Given the description of an element on the screen output the (x, y) to click on. 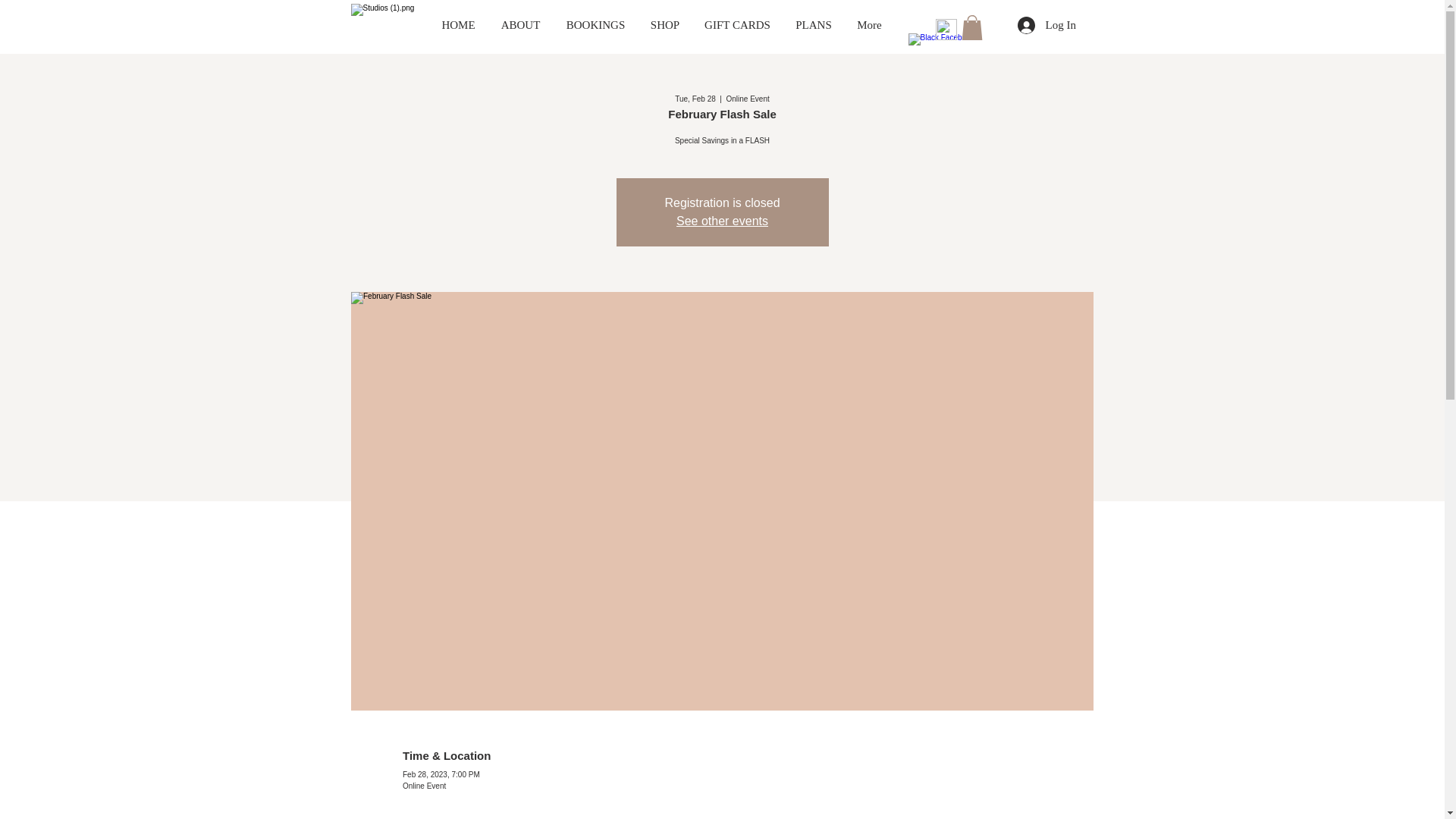
GIFT CARDS (737, 24)
ABOUT (520, 24)
BOOKINGS (596, 24)
SHOP (666, 24)
PLANS (813, 24)
HOME (458, 24)
Log In (1046, 25)
See other events (722, 220)
